Given the description of an element on the screen output the (x, y) to click on. 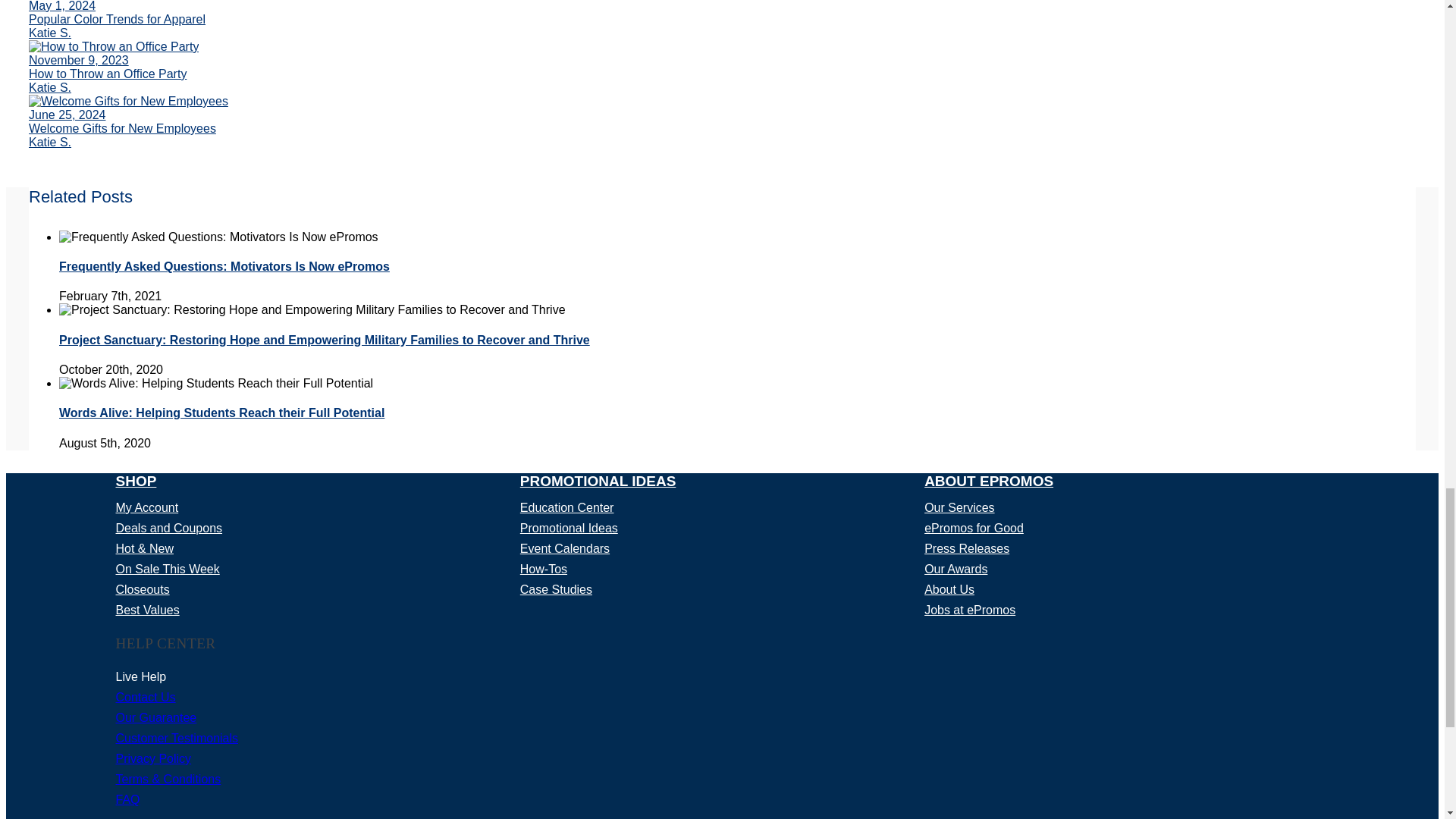
Frequently Asked Questions: Motivators Is Now ePromos (224, 266)
Words Alive: Helping Students Reach their Full Potential (221, 412)
